Given the description of an element on the screen output the (x, y) to click on. 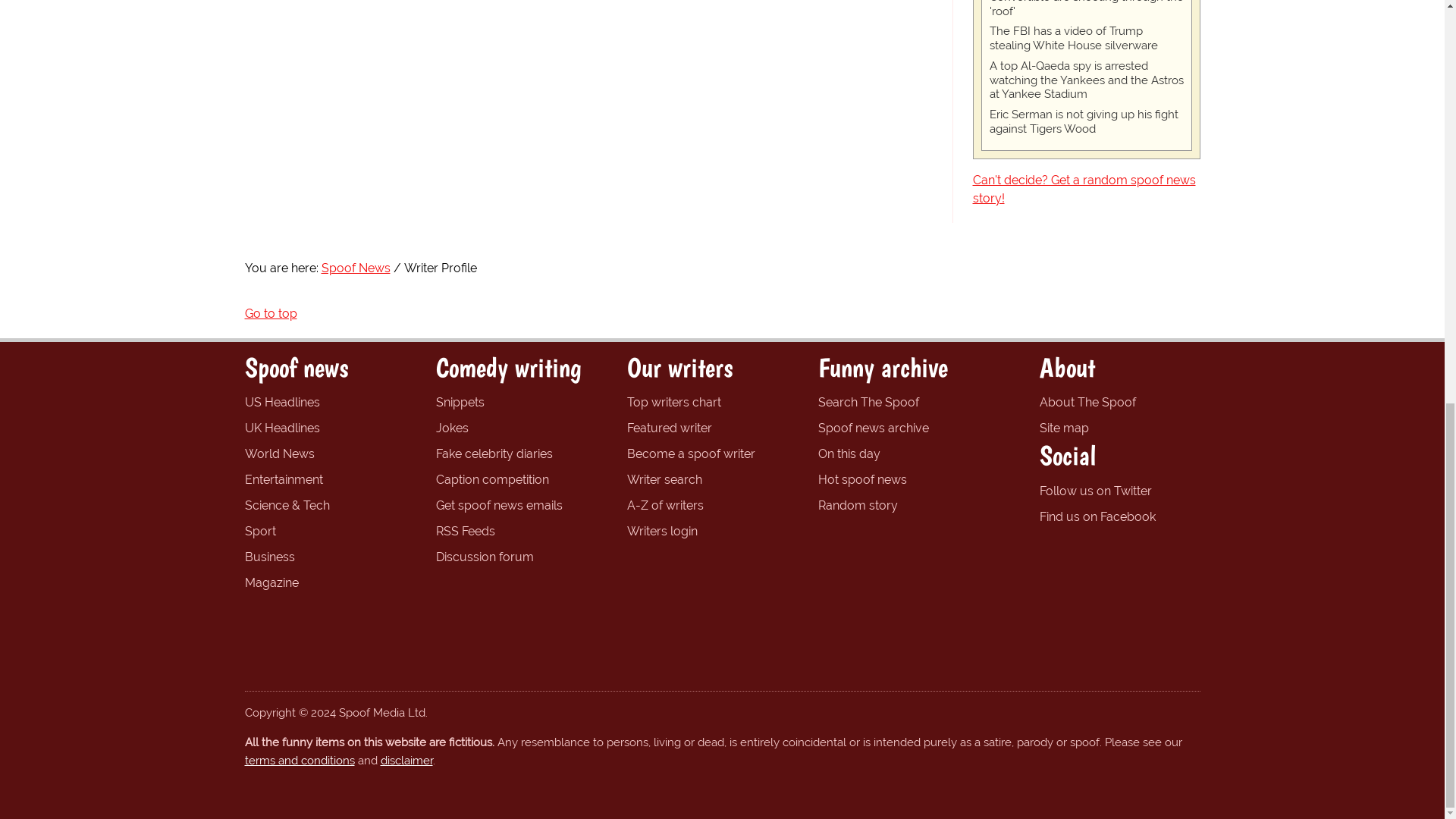
Spoof News World News (279, 453)
The FBI has a video of Trump stealing White House silverware (1085, 38)
Spoof News US Headlines (281, 401)
Spoof News UK Headlines (281, 427)
Eric Serman is not giving up his fight against Tigers Wood (1085, 121)
